Given the description of an element on the screen output the (x, y) to click on. 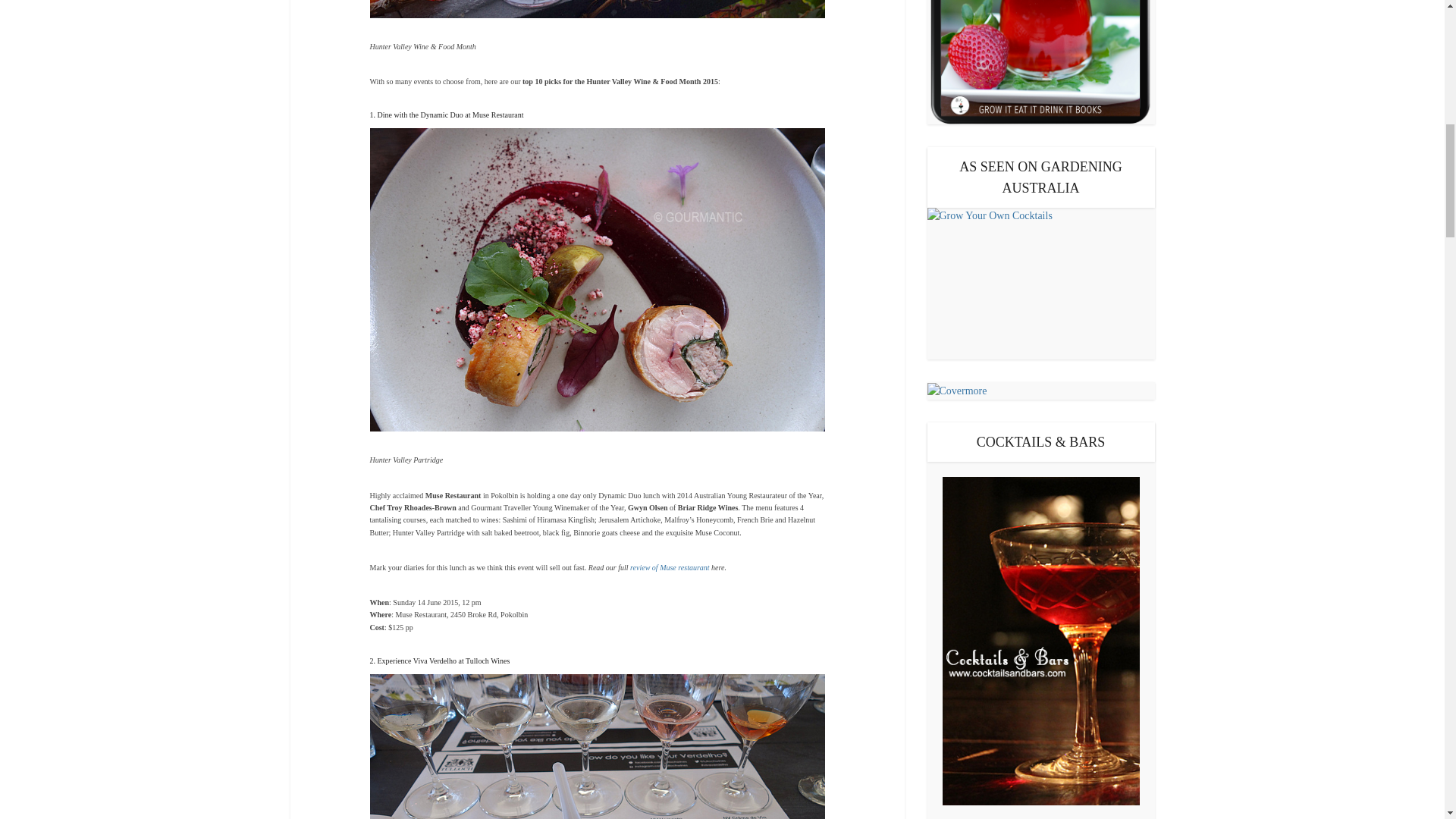
Muse Restaurant, Hunter Valley (670, 567)
